Given the description of an element on the screen output the (x, y) to click on. 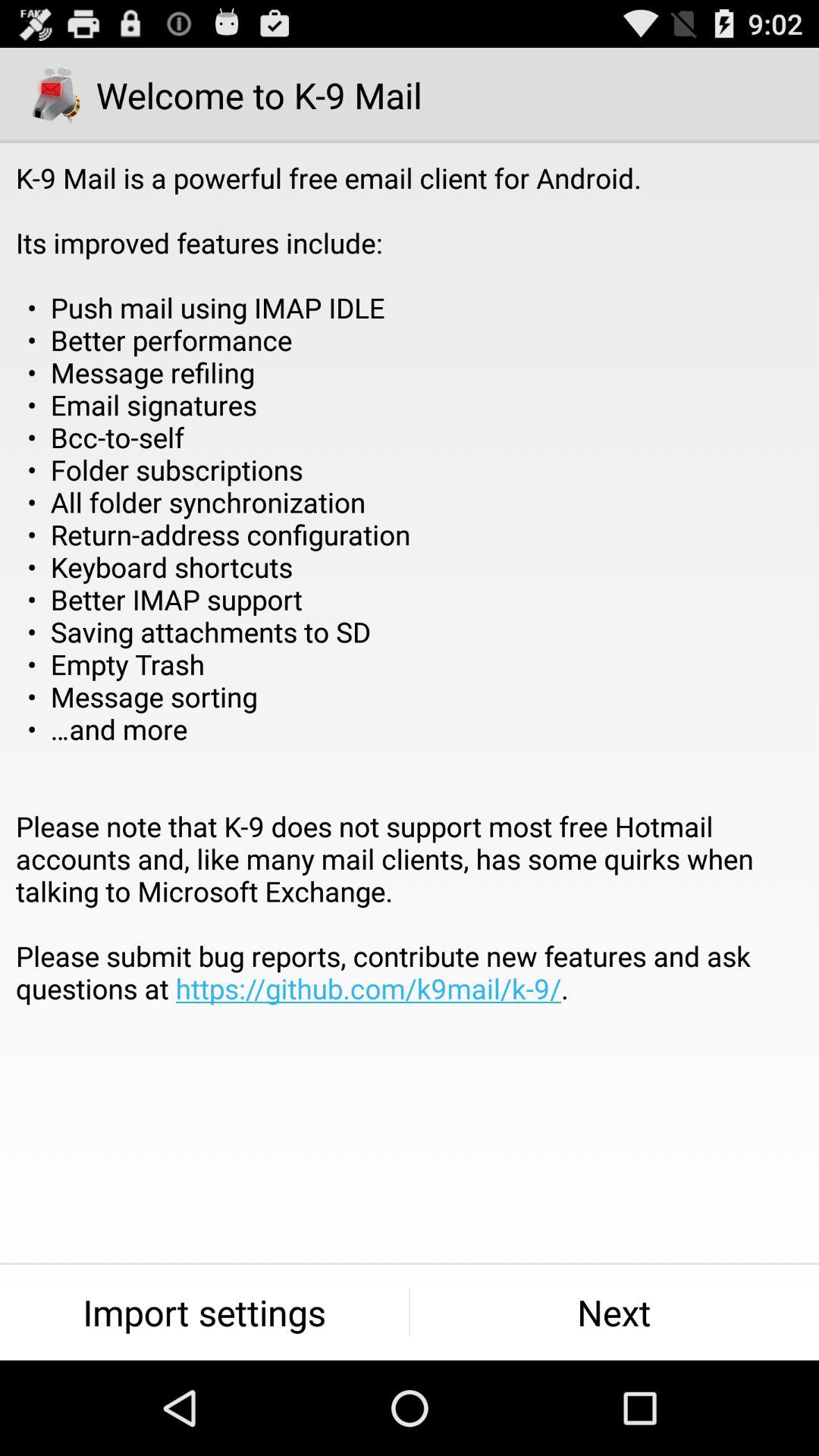
flip to the next button (614, 1312)
